Given the description of an element on the screen output the (x, y) to click on. 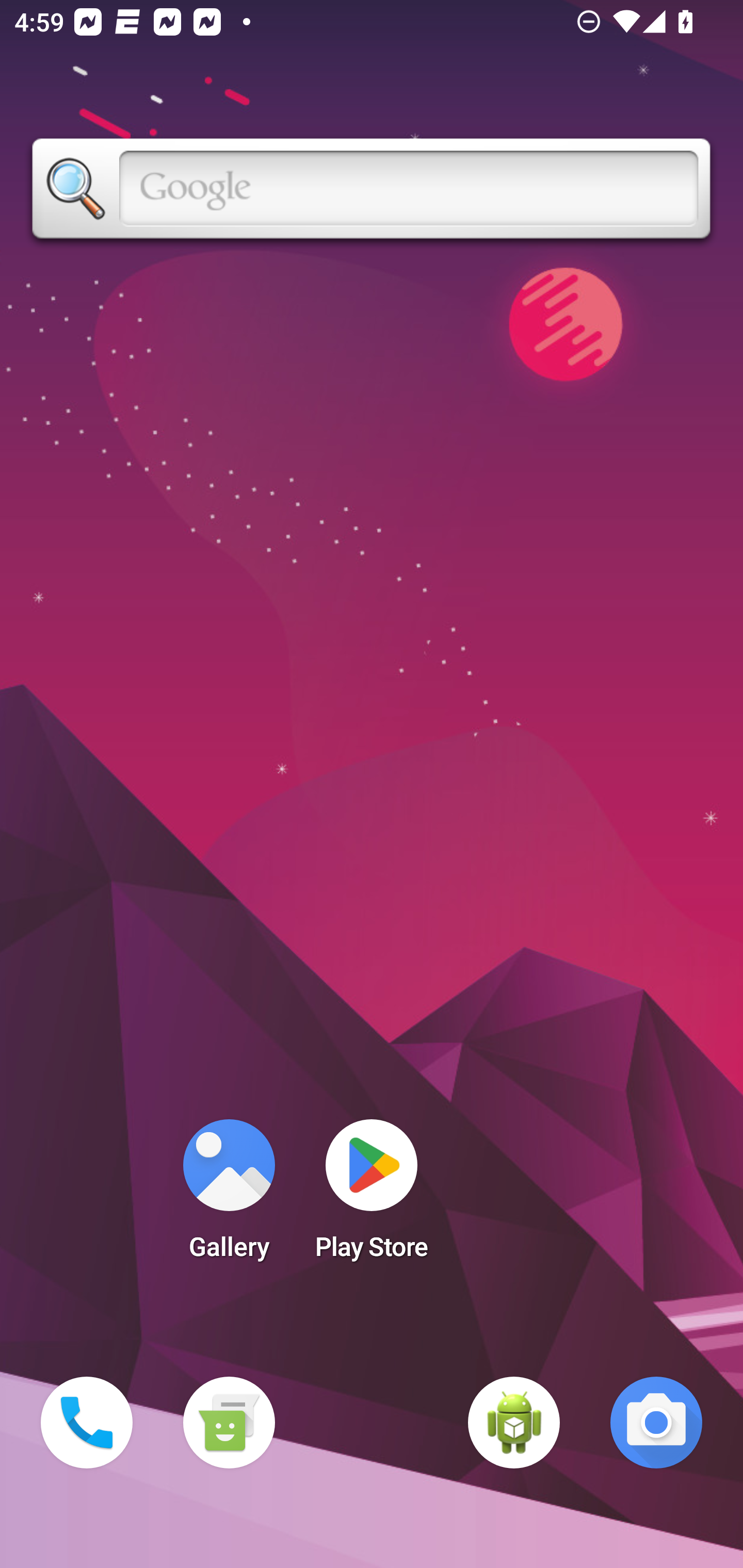
Gallery (228, 1195)
Play Store (371, 1195)
Phone (86, 1422)
Messaging (228, 1422)
WebView Browser Tester (513, 1422)
Camera (656, 1422)
